Given the description of an element on the screen output the (x, y) to click on. 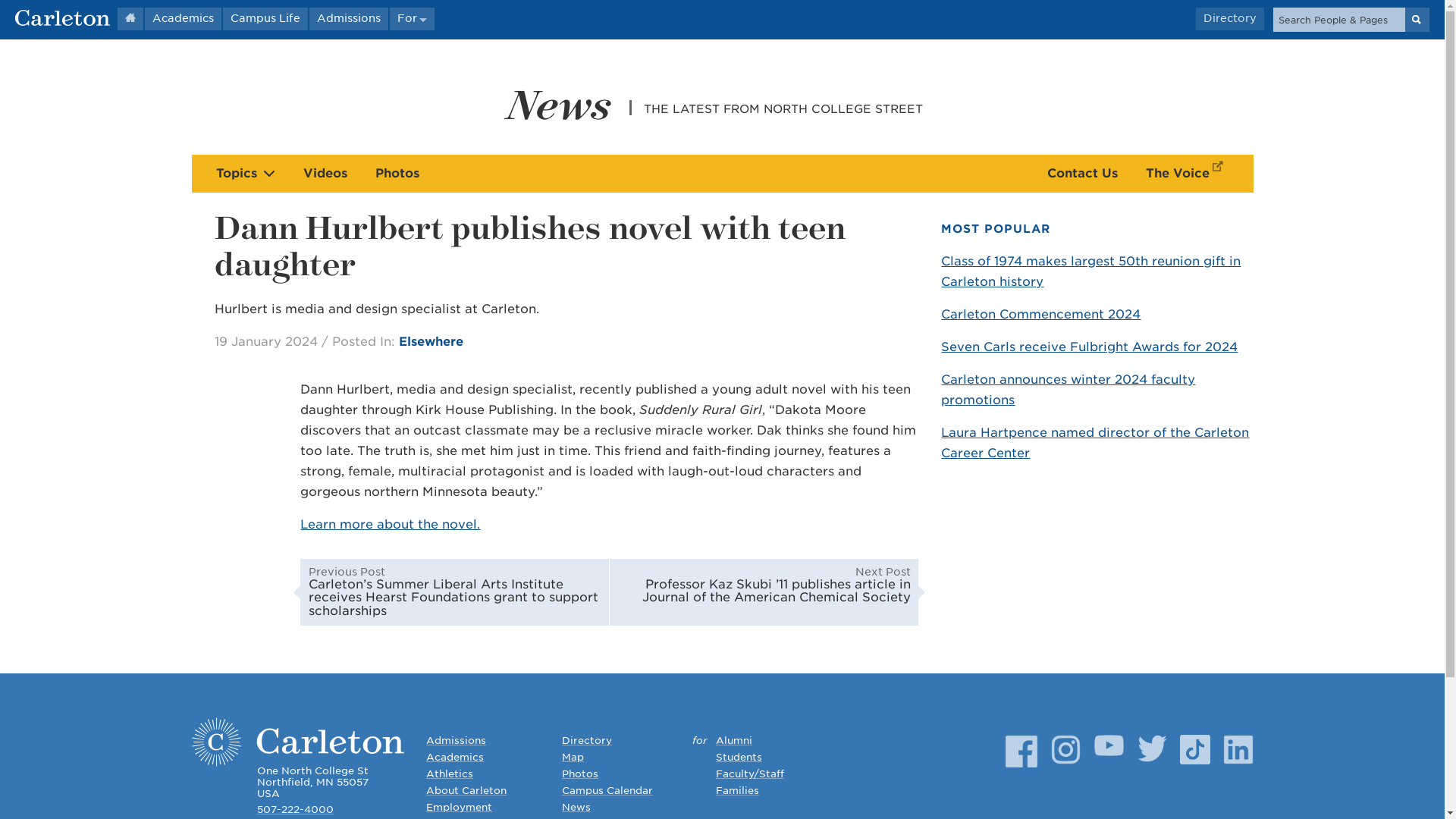
News (558, 102)
The Voice (1186, 173)
Topics icon-down-arrow Created with Sketch. (245, 173)
Learn more about the novel. (389, 523)
Photos (396, 173)
Elsewhere (430, 341)
Admissions (348, 18)
Contact Us (1082, 173)
Directory (1229, 18)
For (411, 18)
